Given the description of an element on the screen output the (x, y) to click on. 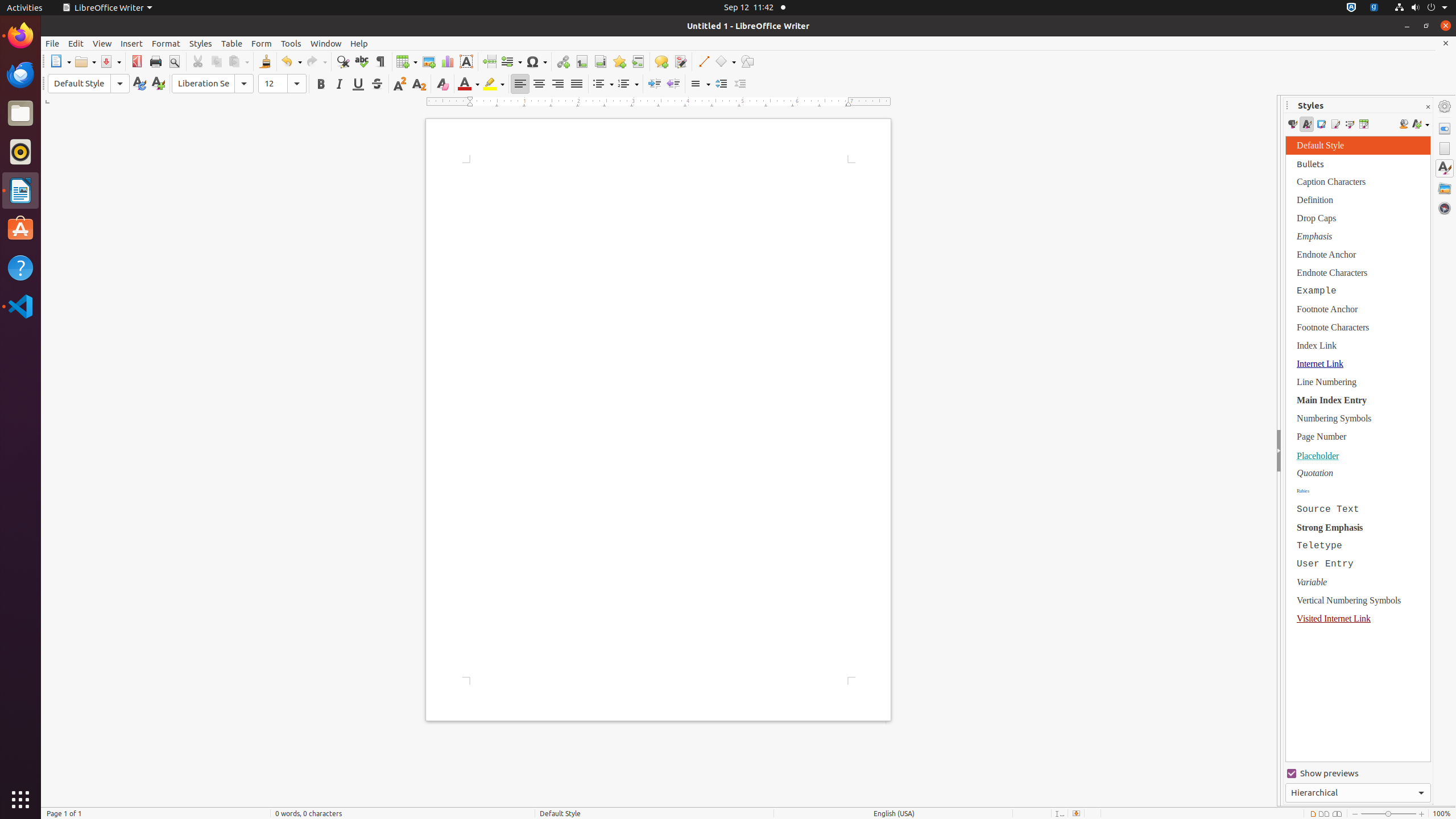
Decrease Element type: push-button (739, 83)
Table Styles Element type: push-button (1363, 123)
Open Element type: push-button (84, 61)
Insert Element type: menu (131, 43)
Help Element type: menu (358, 43)
